Given the description of an element on the screen output the (x, y) to click on. 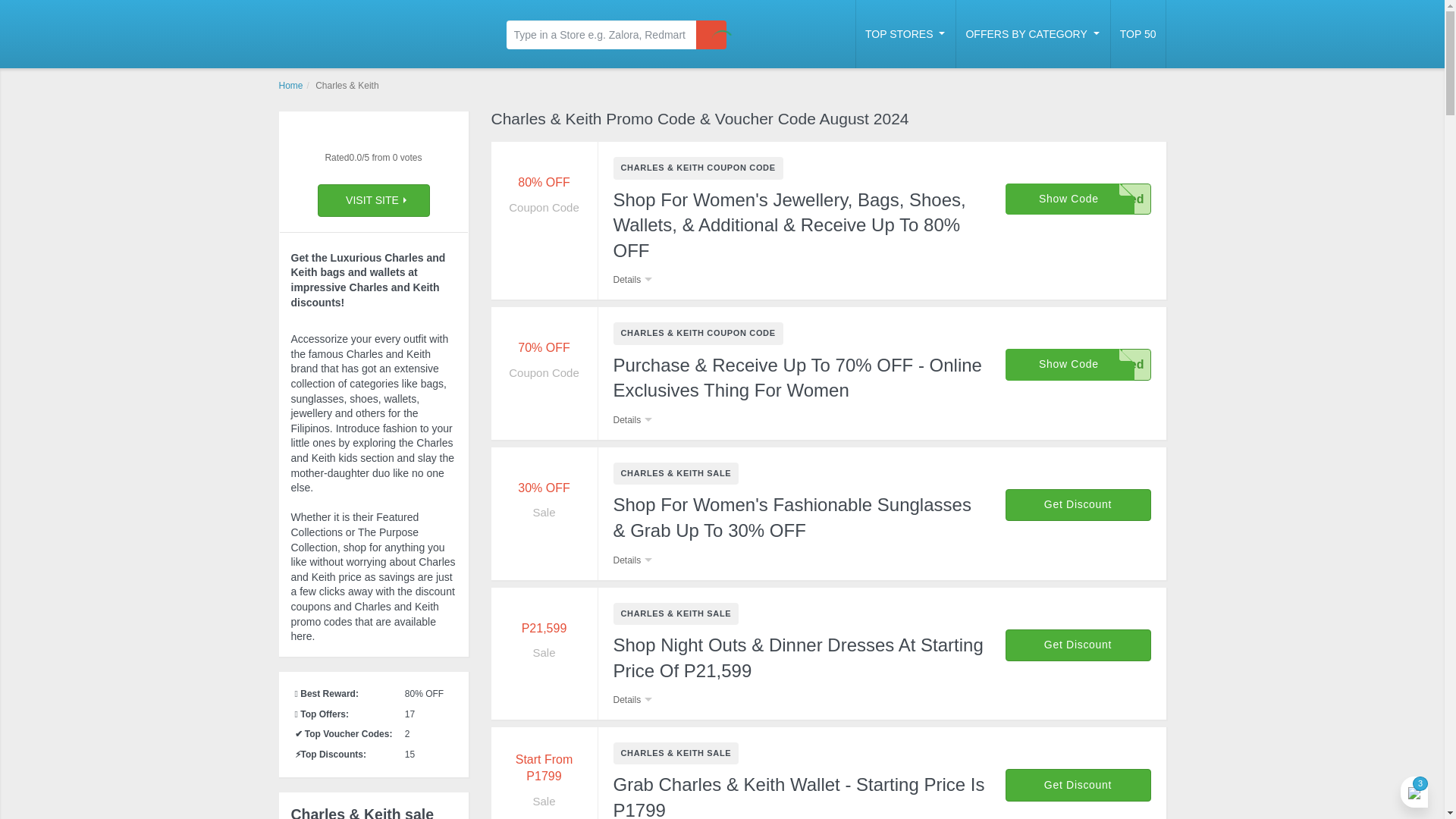
VoucherCodes (373, 32)
Exceptional (398, 137)
1 (345, 137)
2 (358, 137)
OFFERS BY CATEGORY (1032, 33)
Home (290, 85)
Below Average (358, 137)
3 (372, 137)
SEARCH (710, 34)
Poor (345, 137)
TOP STORES (906, 33)
Good (372, 137)
